Given the description of an element on the screen output the (x, y) to click on. 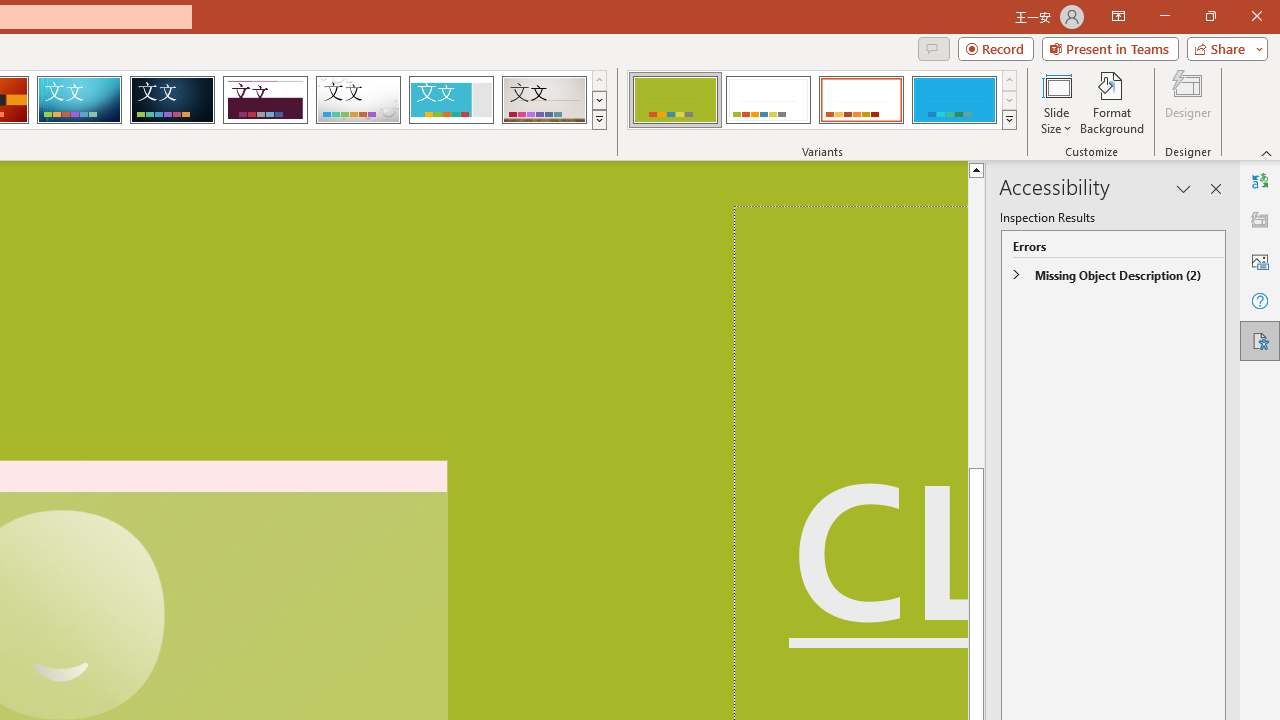
Basis Variant 3 (861, 100)
Basis Variant 2 (768, 100)
